Given the description of an element on the screen output the (x, y) to click on. 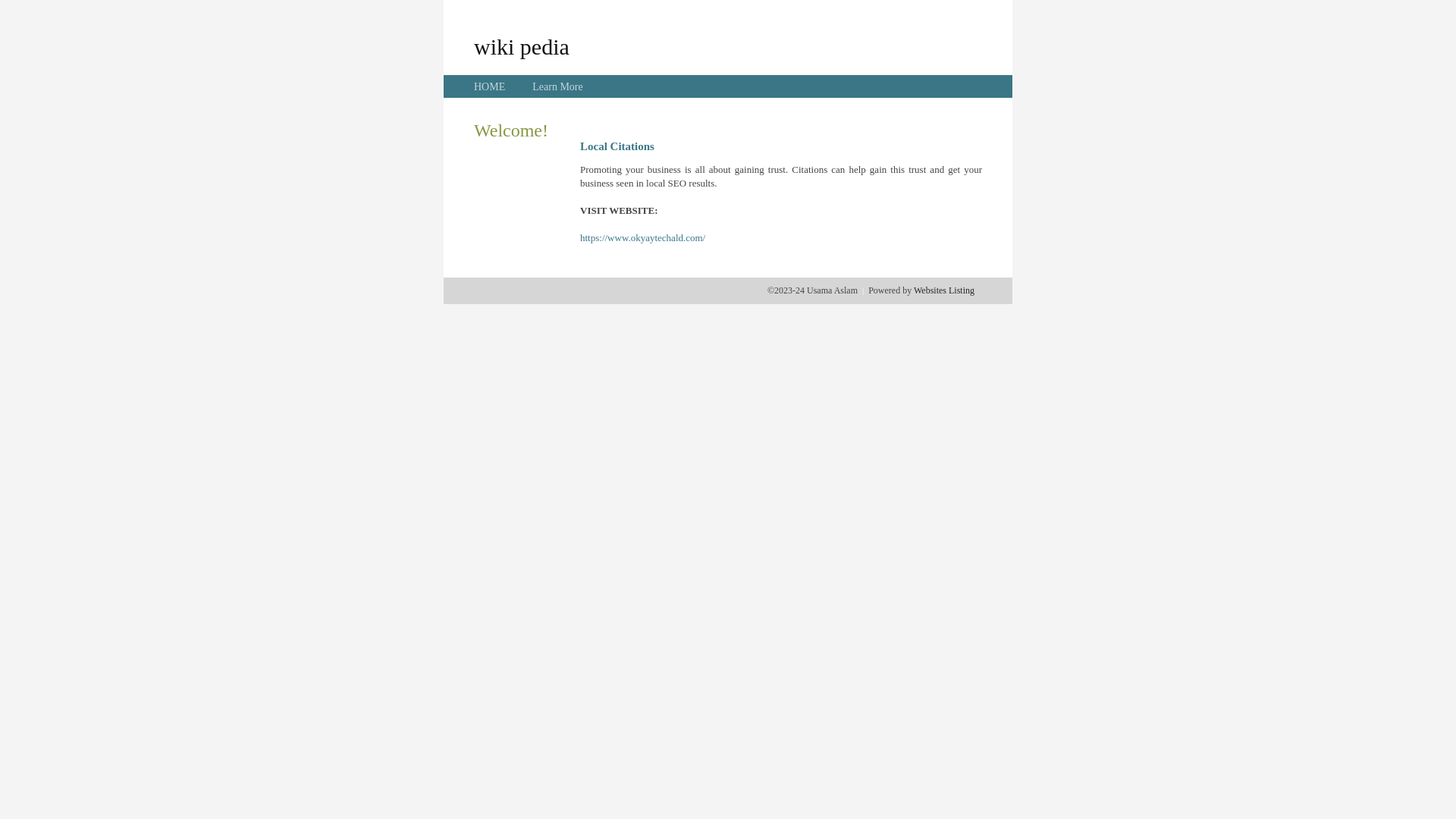
HOME Element type: text (489, 86)
wiki pedia Element type: text (521, 46)
Learn More Element type: text (557, 86)
Websites Listing Element type: text (943, 290)
https://www.okyaytechald.com/ Element type: text (642, 237)
